Given the description of an element on the screen output the (x, y) to click on. 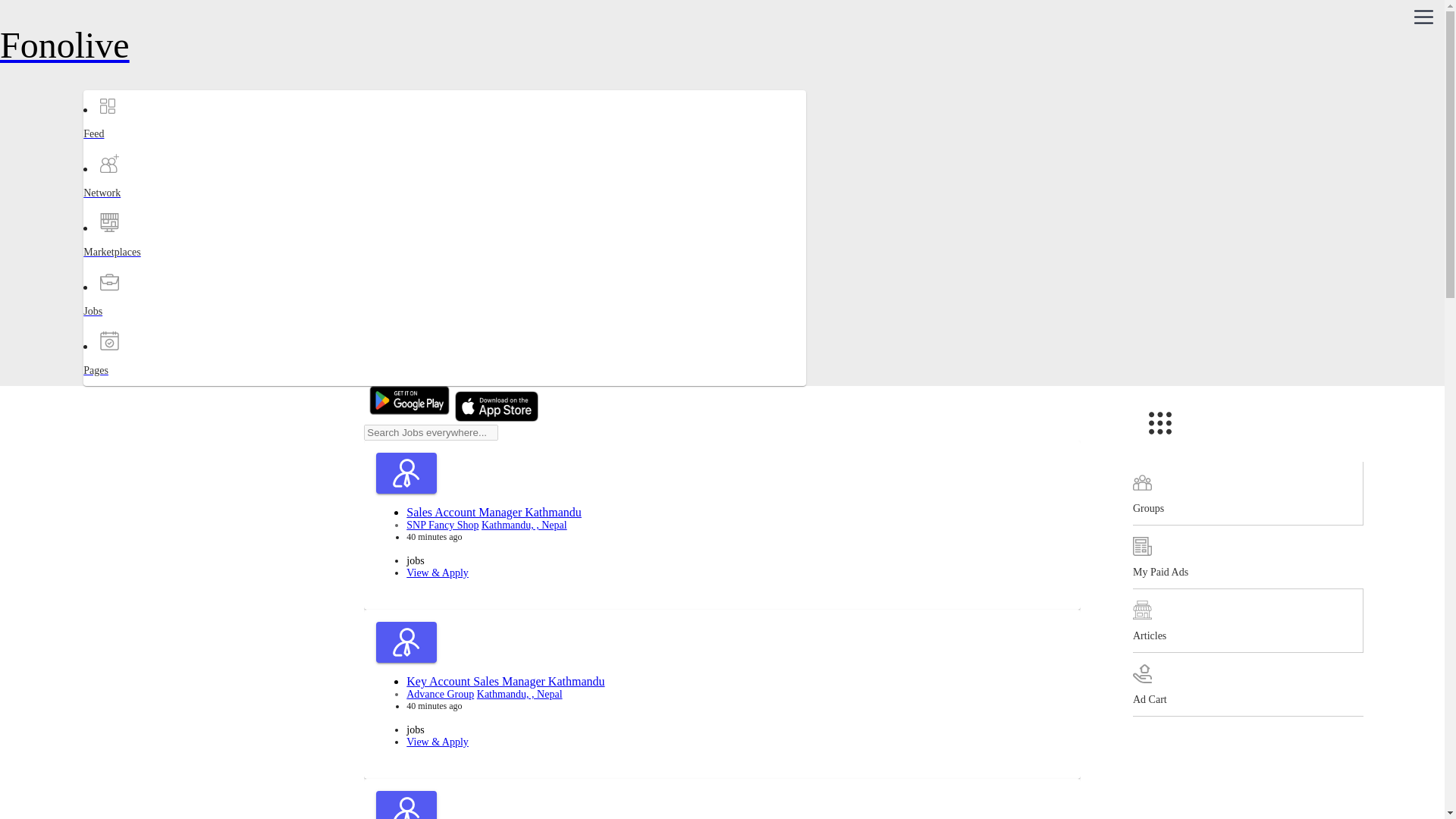
Jobs (142, 325)
Sales Account Manager Kathmandu (493, 512)
Pages (142, 384)
Groups (1247, 493)
Articles (1247, 620)
My Paid Ads (1247, 556)
Feed (142, 147)
Marketplaces (142, 265)
Network (142, 206)
Kathmandu, , Nepal (524, 524)
Ad Cart (1247, 684)
Advance Group (440, 694)
Kathmandu, , Nepal (519, 694)
SNP Fancy Shop (442, 524)
Key Account Sales Manager Kathmandu (505, 680)
